Given the description of an element on the screen output the (x, y) to click on. 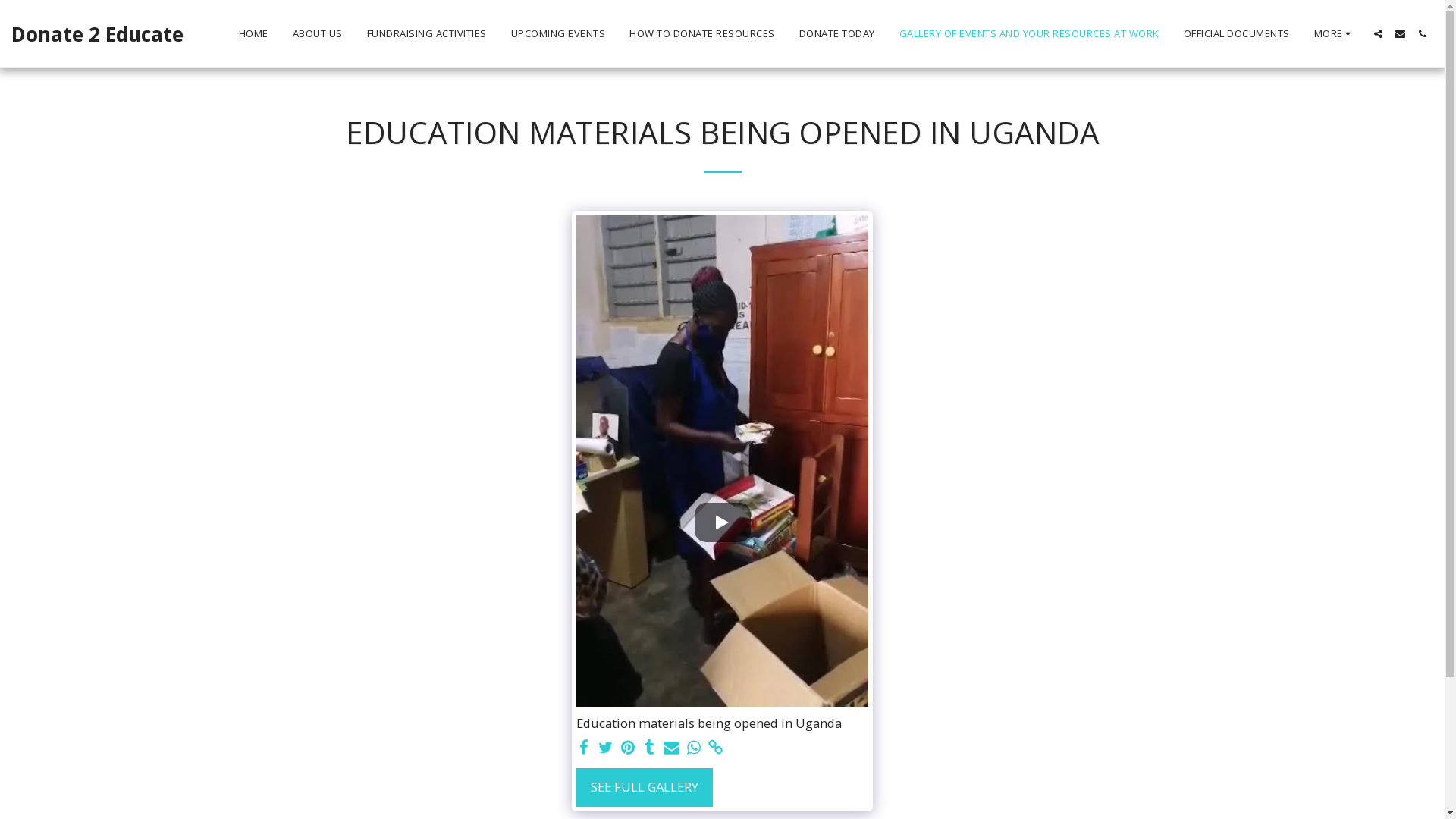
ABOUT US Element type: text (316, 33)
  Element type: text (627, 747)
DONATE TODAY Element type: text (836, 33)
Donate 2 Educate Element type: text (97, 34)
  Element type: text (606, 747)
  Element type: text (693, 747)
  Element type: text (722, 521)
MORE   Element type: text (1334, 33)
  Element type: text (1400, 33)
SEE FULL GALLERY Element type: text (644, 787)
Tweet Element type: hover (606, 747)
link Element type: hover (715, 747)
  Element type: text (1422, 33)
  Element type: text (649, 747)
HOME Element type: text (253, 33)
  Element type: text (671, 747)
UPCOMING EVENTS Element type: text (557, 33)
whatsapp Element type: hover (693, 747)
OFFICIAL DOCUMENTS Element type: text (1236, 33)
HOW TO DONATE RESOURCES Element type: text (702, 33)
Pin it Element type: hover (627, 747)
tumblr Element type: hover (649, 747)
GALLERY OF EVENTS AND YOUR RESOURCES AT WORK Element type: text (1028, 33)
  Element type: text (1378, 33)
Share on Facebook Element type: hover (584, 747)
  Element type: text (584, 747)
Share by Email Element type: hover (671, 747)
FUNDRAISING ACTIVITIES Element type: text (425, 33)
  Element type: text (715, 747)
